Given the description of an element on the screen output the (x, y) to click on. 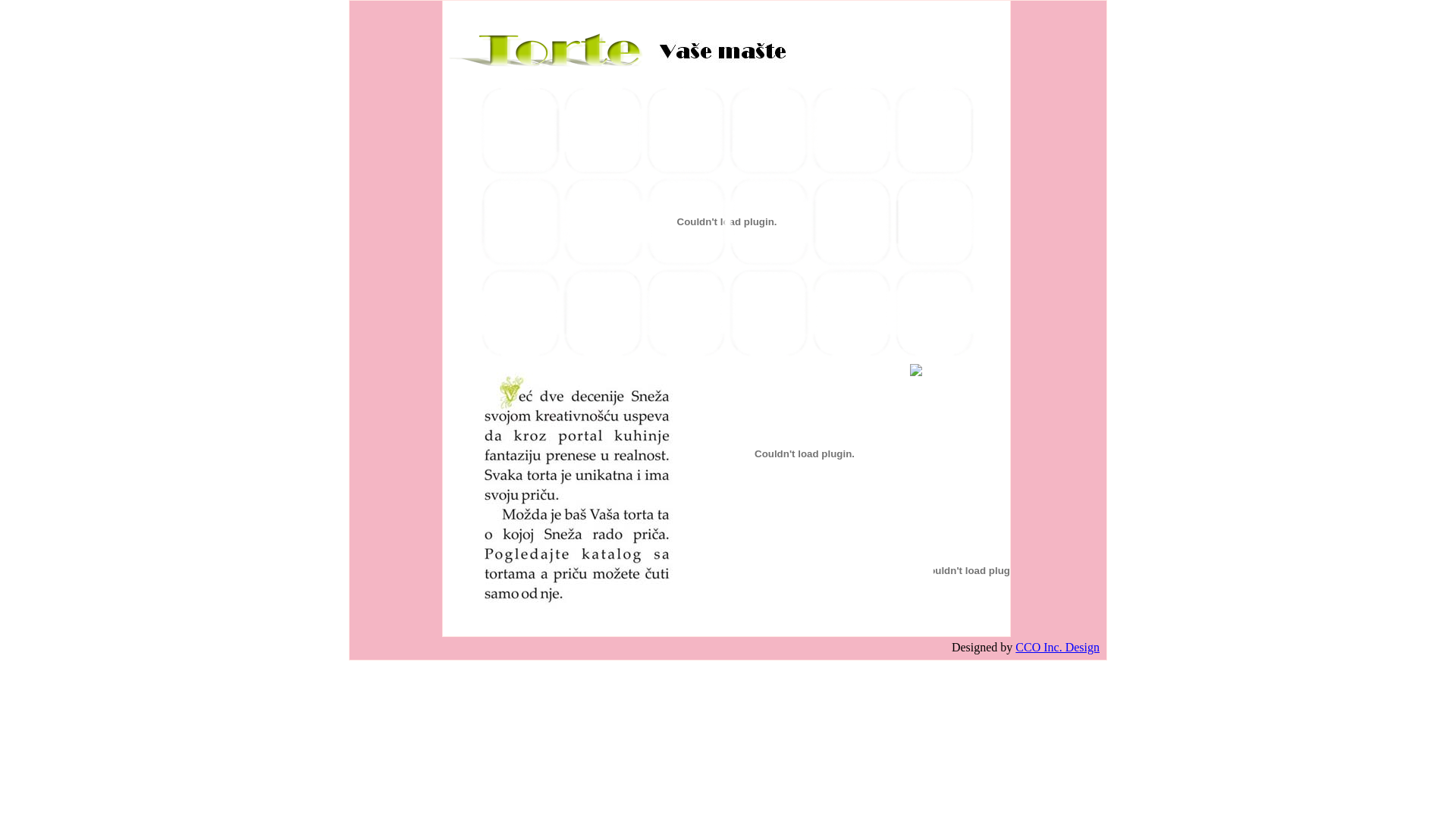
CCO Inc. Design Element type: text (1057, 646)
